Given the description of an element on the screen output the (x, y) to click on. 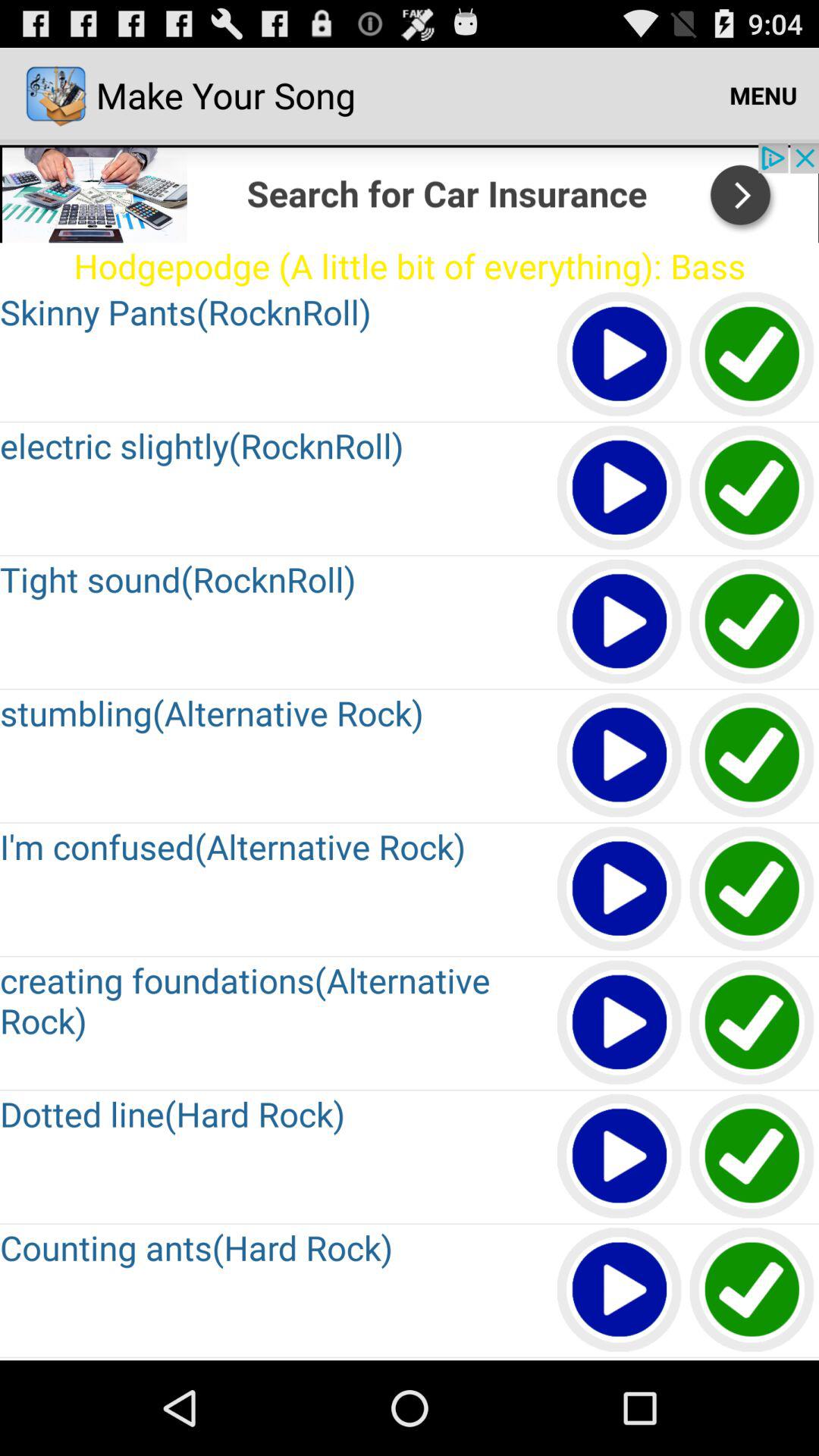
select the track (752, 755)
